Given the description of an element on the screen output the (x, y) to click on. 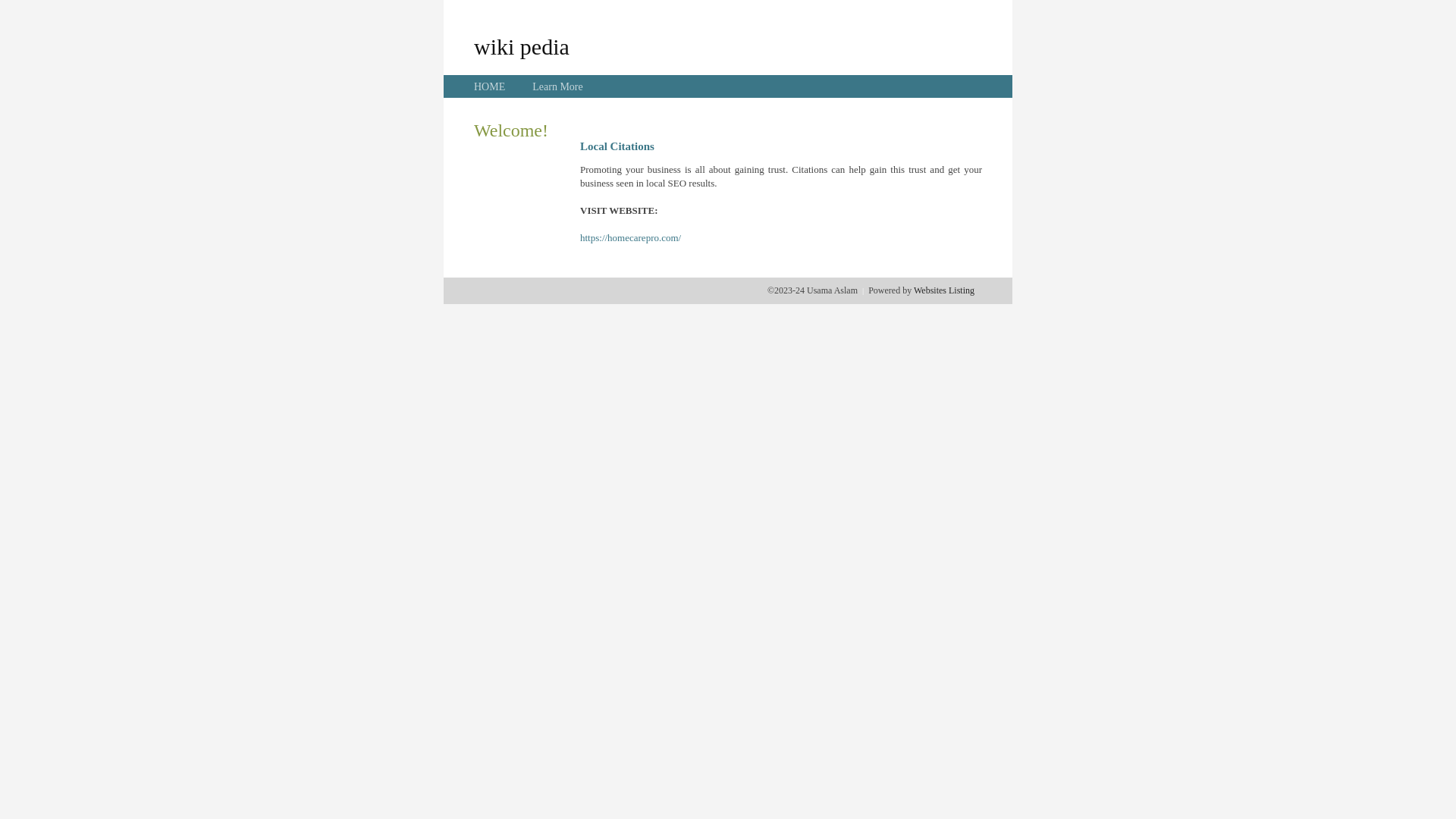
Learn More Element type: text (557, 86)
wiki pedia Element type: text (521, 46)
https://homecarepro.com/ Element type: text (630, 237)
Websites Listing Element type: text (943, 290)
HOME Element type: text (489, 86)
